Given the description of an element on the screen output the (x, y) to click on. 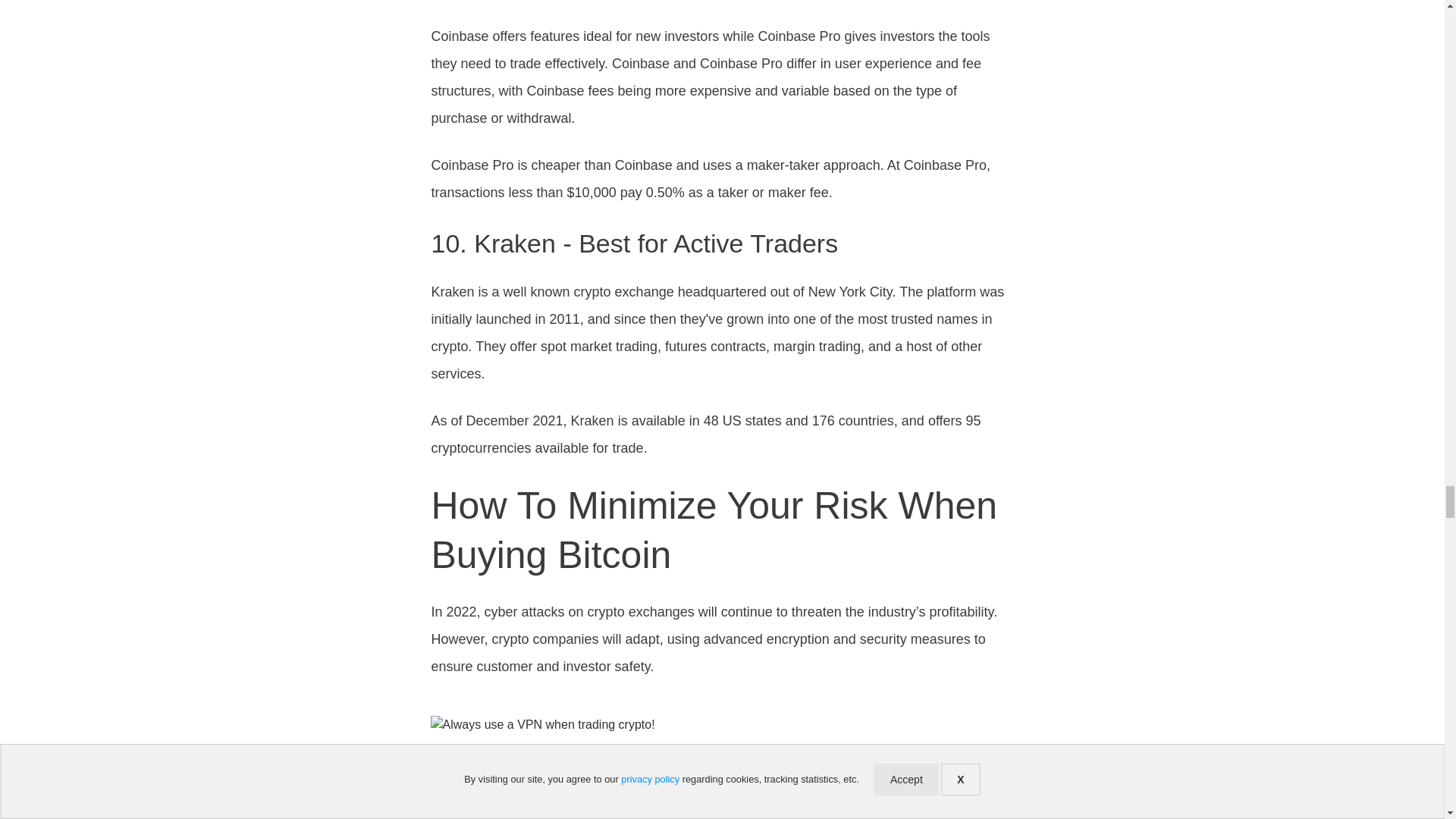
Always use a VPN when trading crypto! (722, 767)
